Given the description of an element on the screen output the (x, y) to click on. 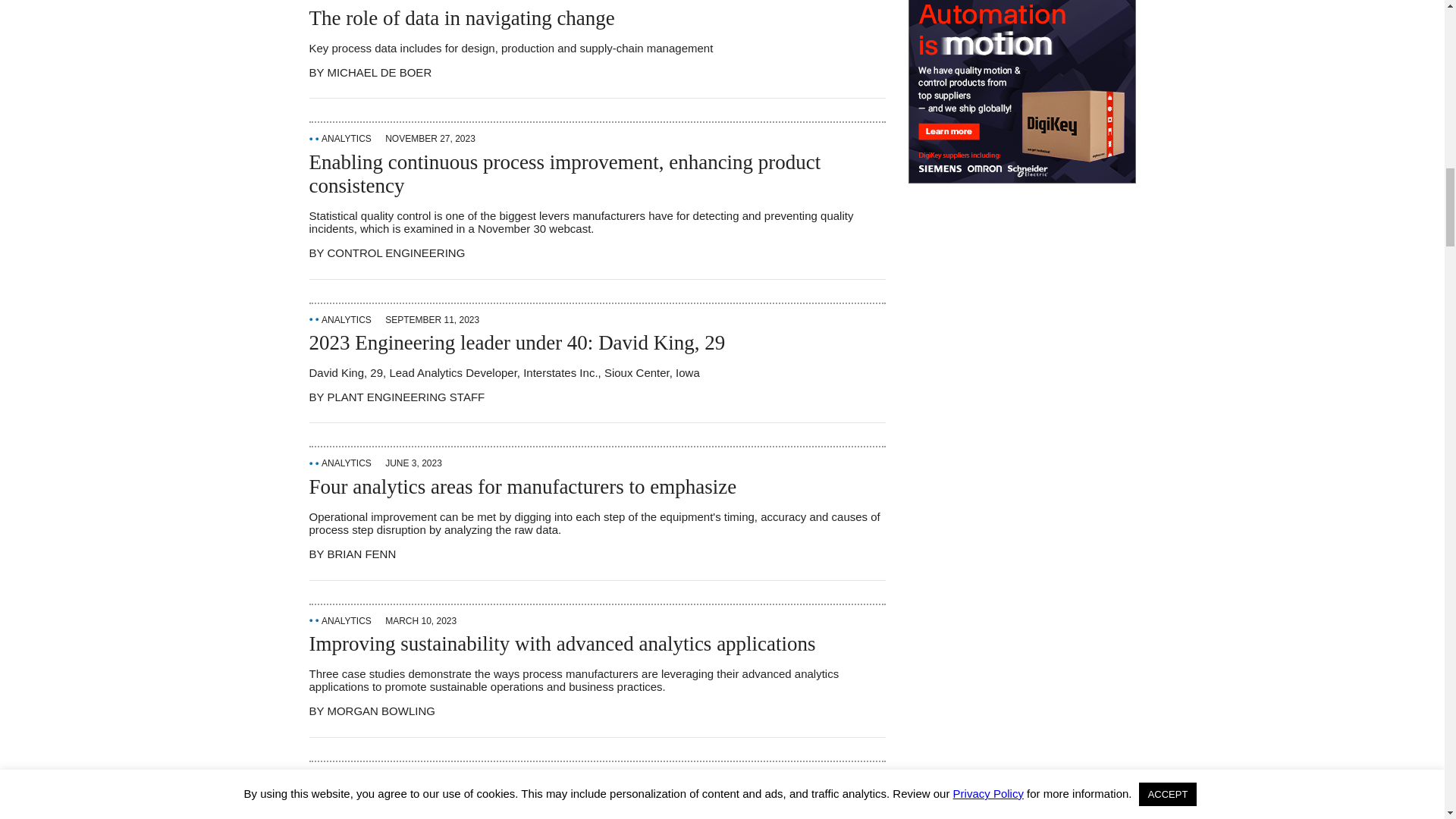
3rd party ad content (1021, 91)
